Given the description of an element on the screen output the (x, y) to click on. 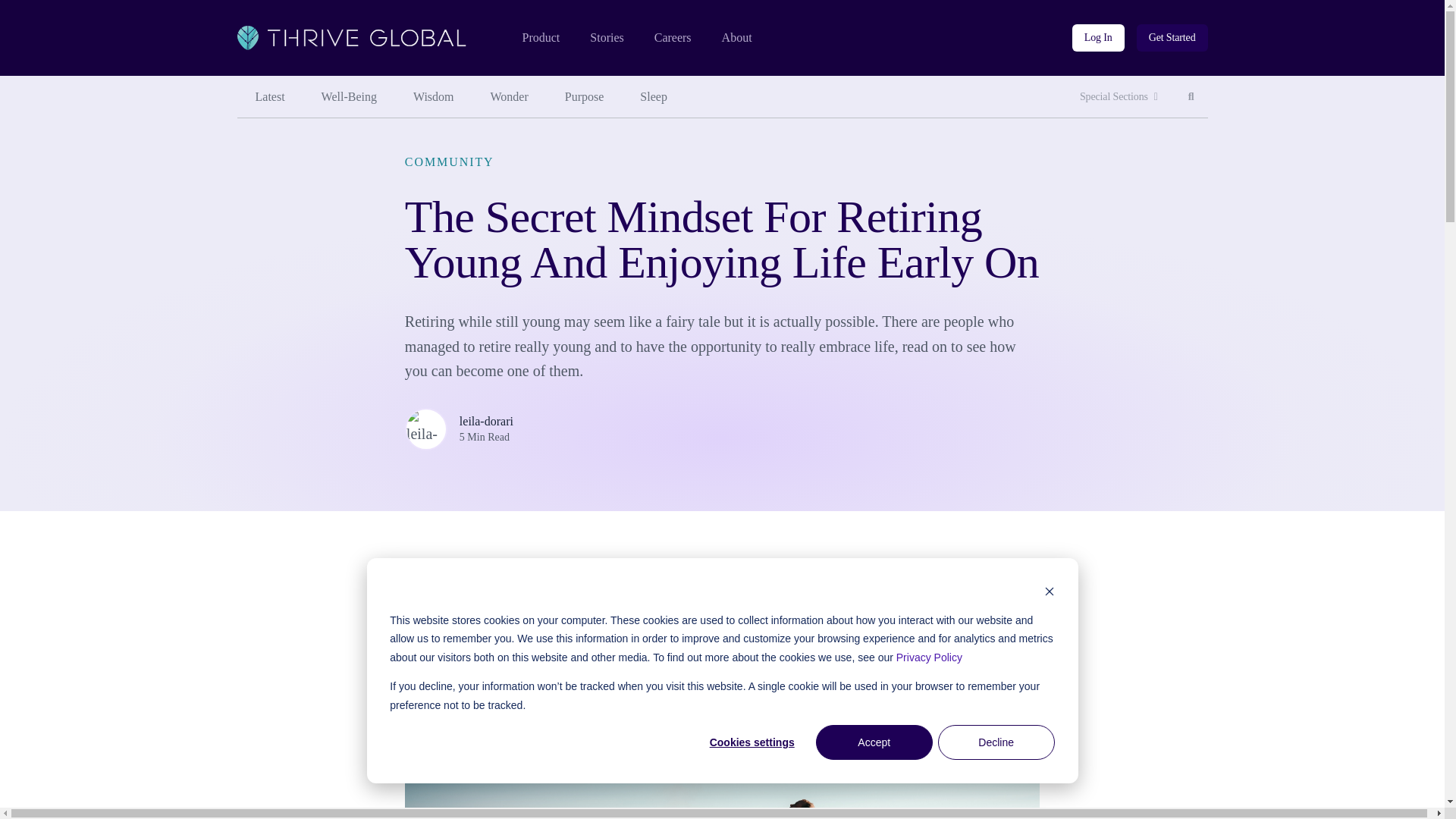
Careers (672, 37)
Sleep (653, 96)
Purpose (585, 96)
Wisdom (432, 96)
About (737, 37)
Stories (606, 37)
Special Sections (1118, 97)
Well-Being (1191, 97)
Product (348, 96)
